Given the description of an element on the screen output the (x, y) to click on. 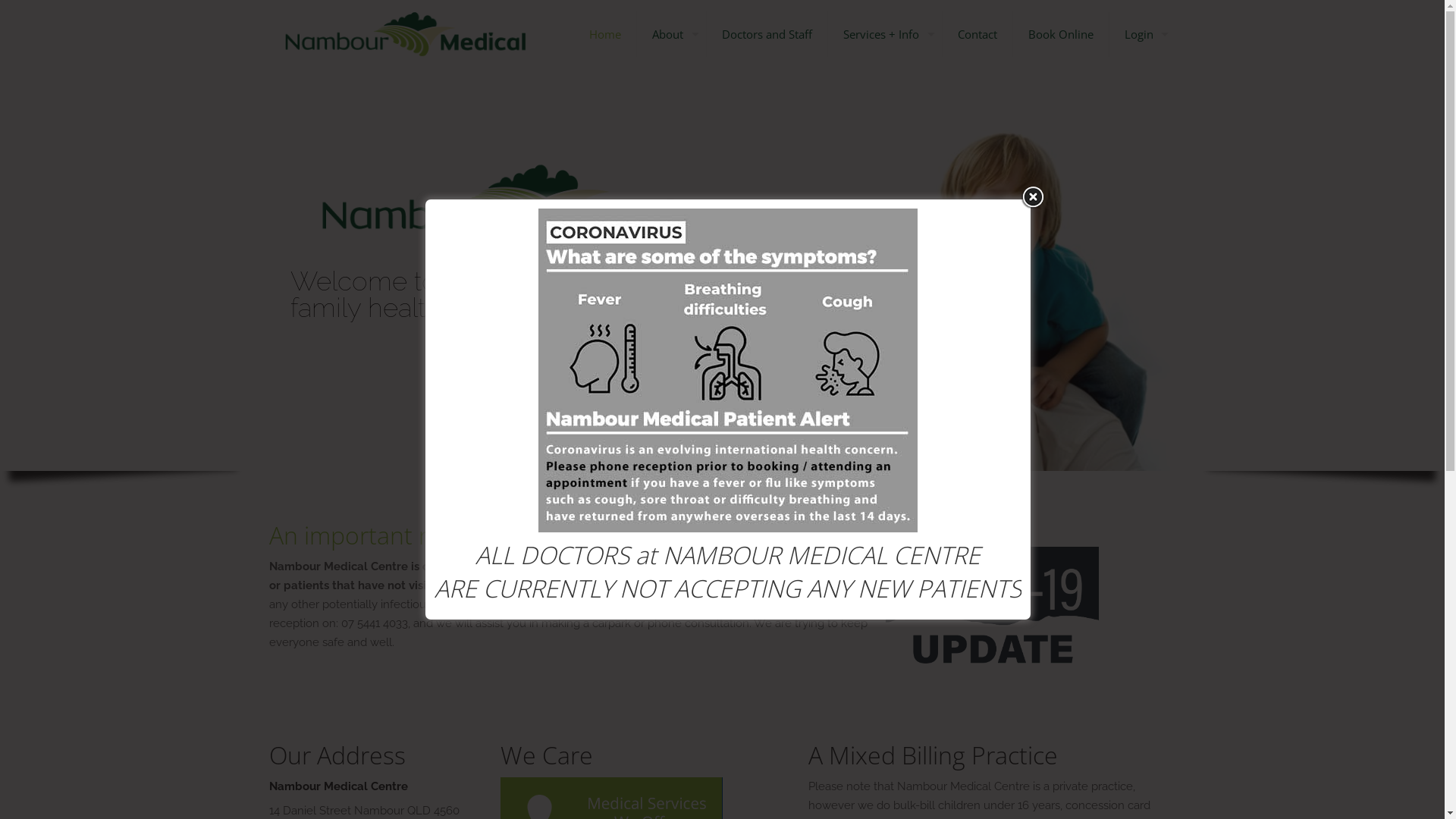
Close Element type: hover (1032, 196)
OKMEDIA Element type: text (890, 778)
Services + Info Element type: text (885, 34)
Terms & Privacy Element type: text (776, 778)
Contact Element type: text (976, 34)
Doctors and Staff Element type: text (767, 34)
About Element type: text (671, 34)
Login Element type: text (1141, 34)
Book Online Element type: text (1061, 34)
Home Element type: text (604, 34)
Nambour Medical Centre Element type: hover (405, 34)
